Given the description of an element on the screen output the (x, y) to click on. 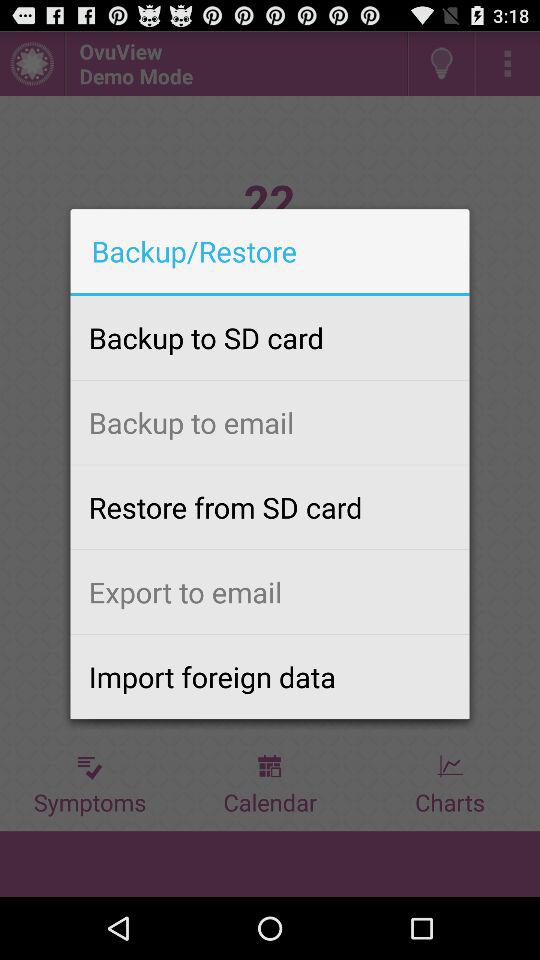
turn on icon below the backup to email (269, 507)
